Given the description of an element on the screen output the (x, y) to click on. 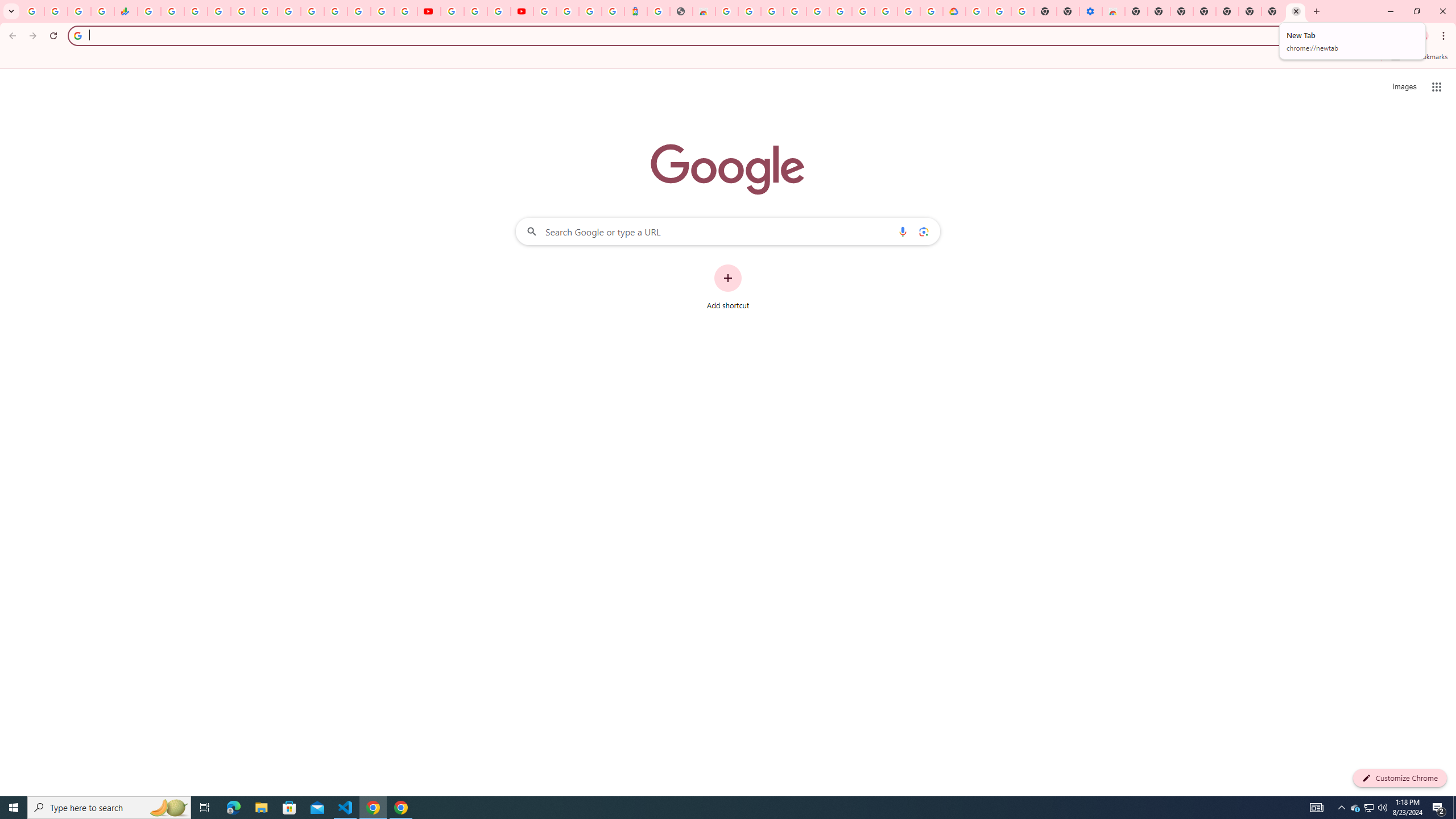
YouTube (312, 11)
Privacy Checkup (405, 11)
Settings - Accessibility (1091, 11)
Sign in - Google Accounts (817, 11)
Create your Google Account (498, 11)
Sign in - Google Accounts (218, 11)
Content Creator Programs & Opportunities - YouTube Creators (521, 11)
Sign in - Google Accounts (335, 11)
Ad Settings (794, 11)
